Given the description of an element on the screen output the (x, y) to click on. 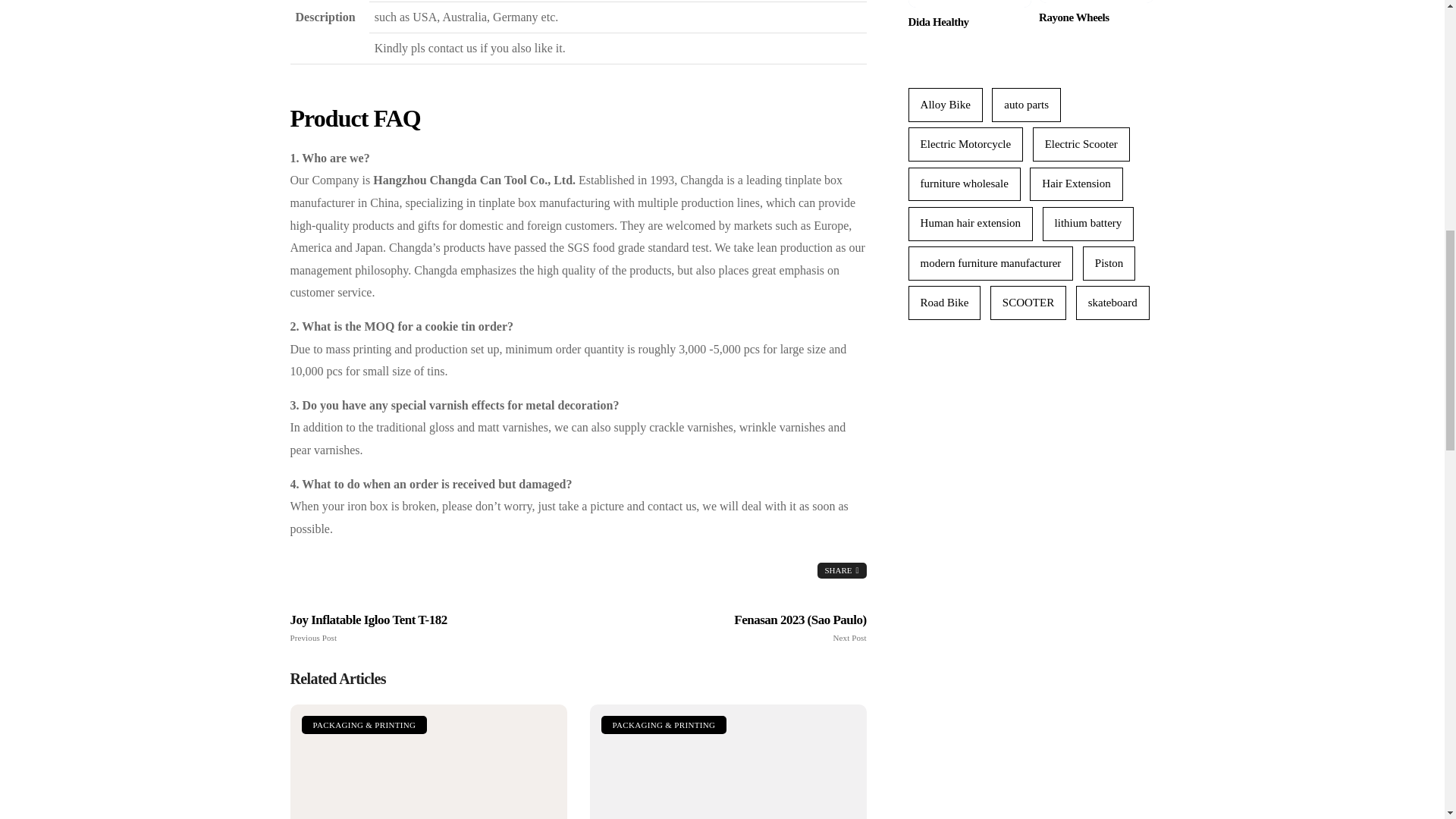
Cornstarch Packaging (727, 761)
Empty Advent Calendar Boxes Wholesale (427, 761)
